Given the description of an element on the screen output the (x, y) to click on. 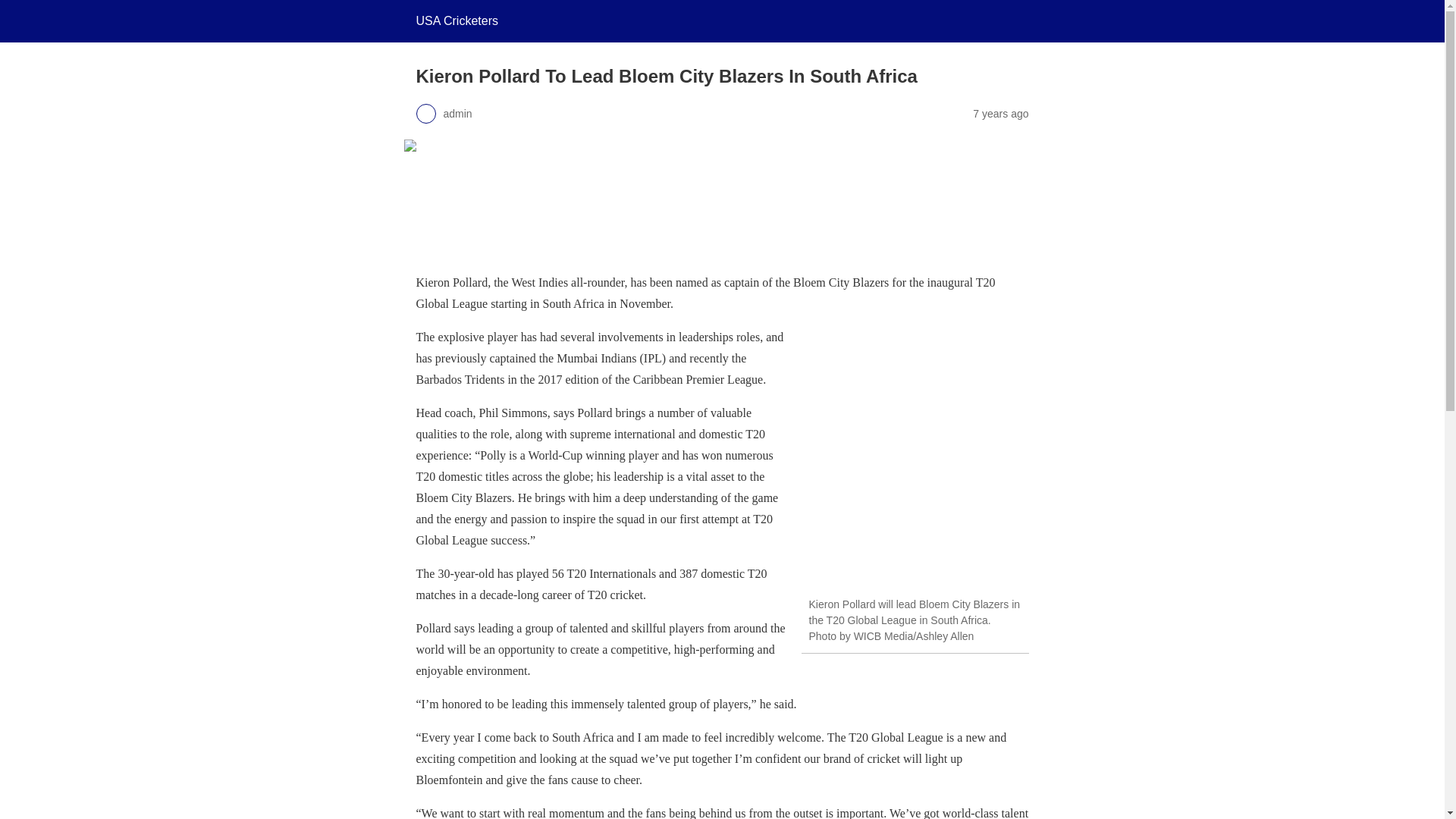
USA Cricketers (455, 20)
